Given the description of an element on the screen output the (x, y) to click on. 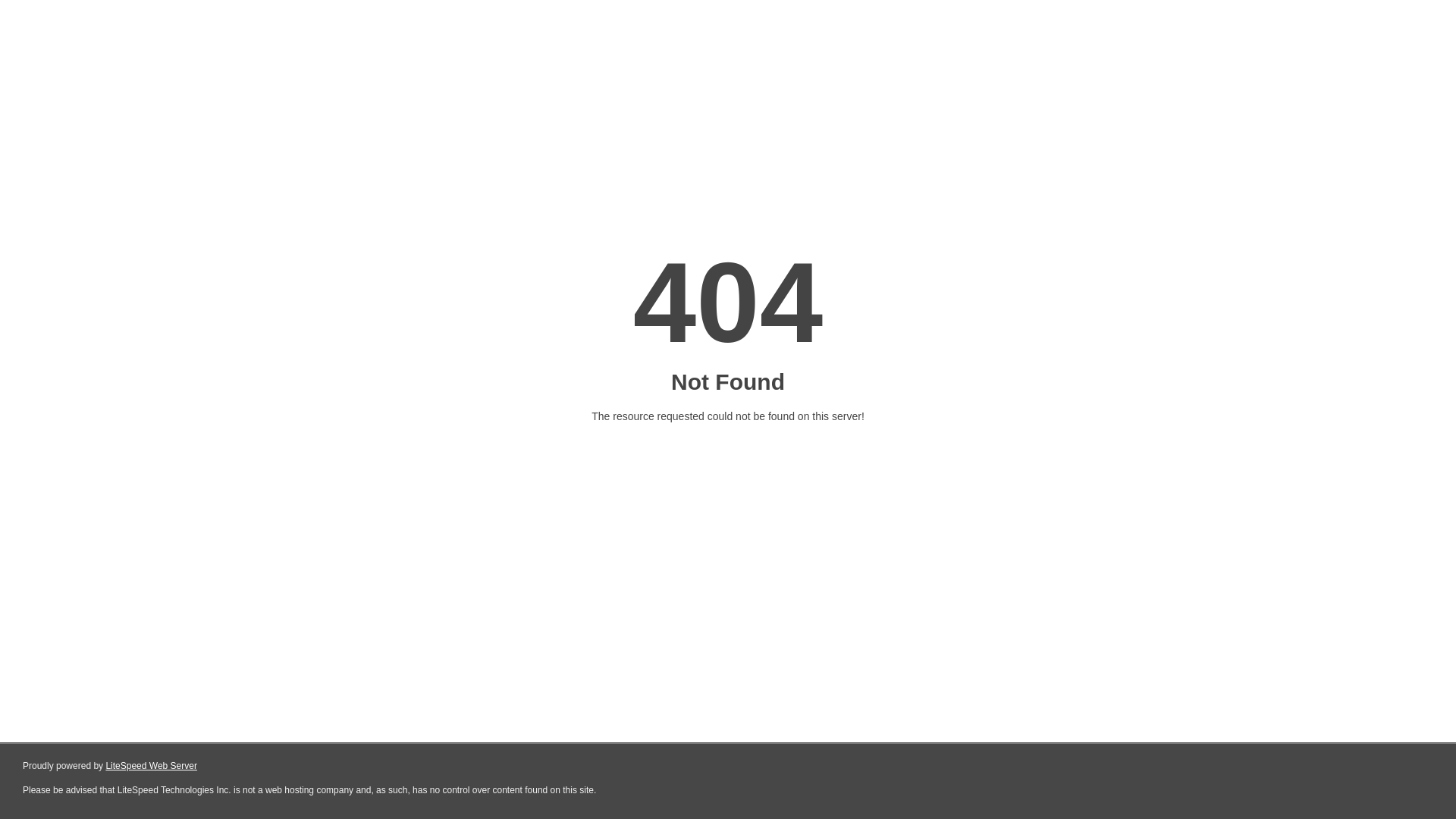
LiteSpeed Web Server Element type: text (151, 765)
